Given the description of an element on the screen output the (x, y) to click on. 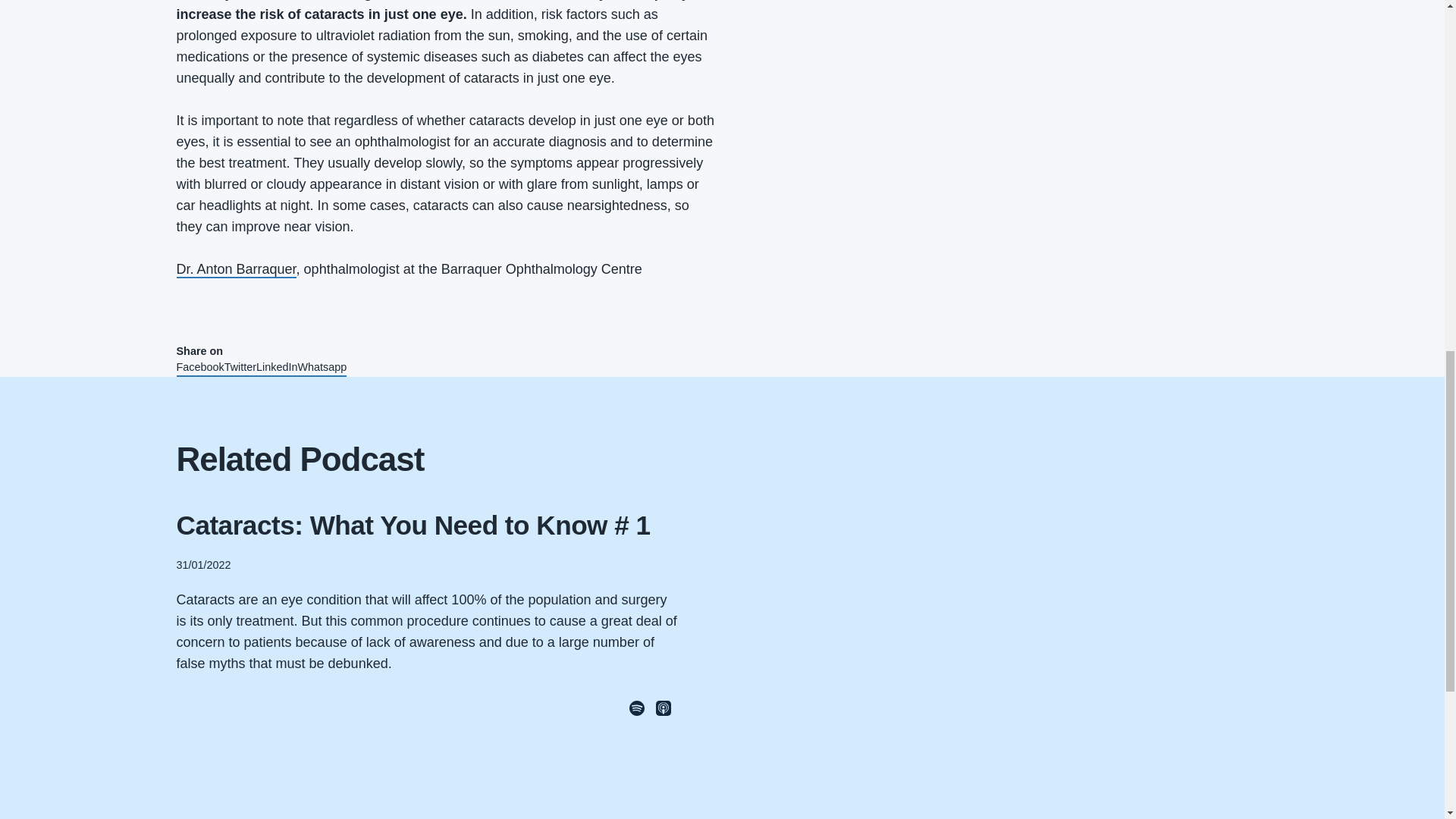
Share on  LinkedIn (276, 367)
Share on  Twitter (240, 367)
Share on  Facebook (200, 367)
Share on  Whatsapp (322, 367)
